Given the description of an element on the screen output the (x, y) to click on. 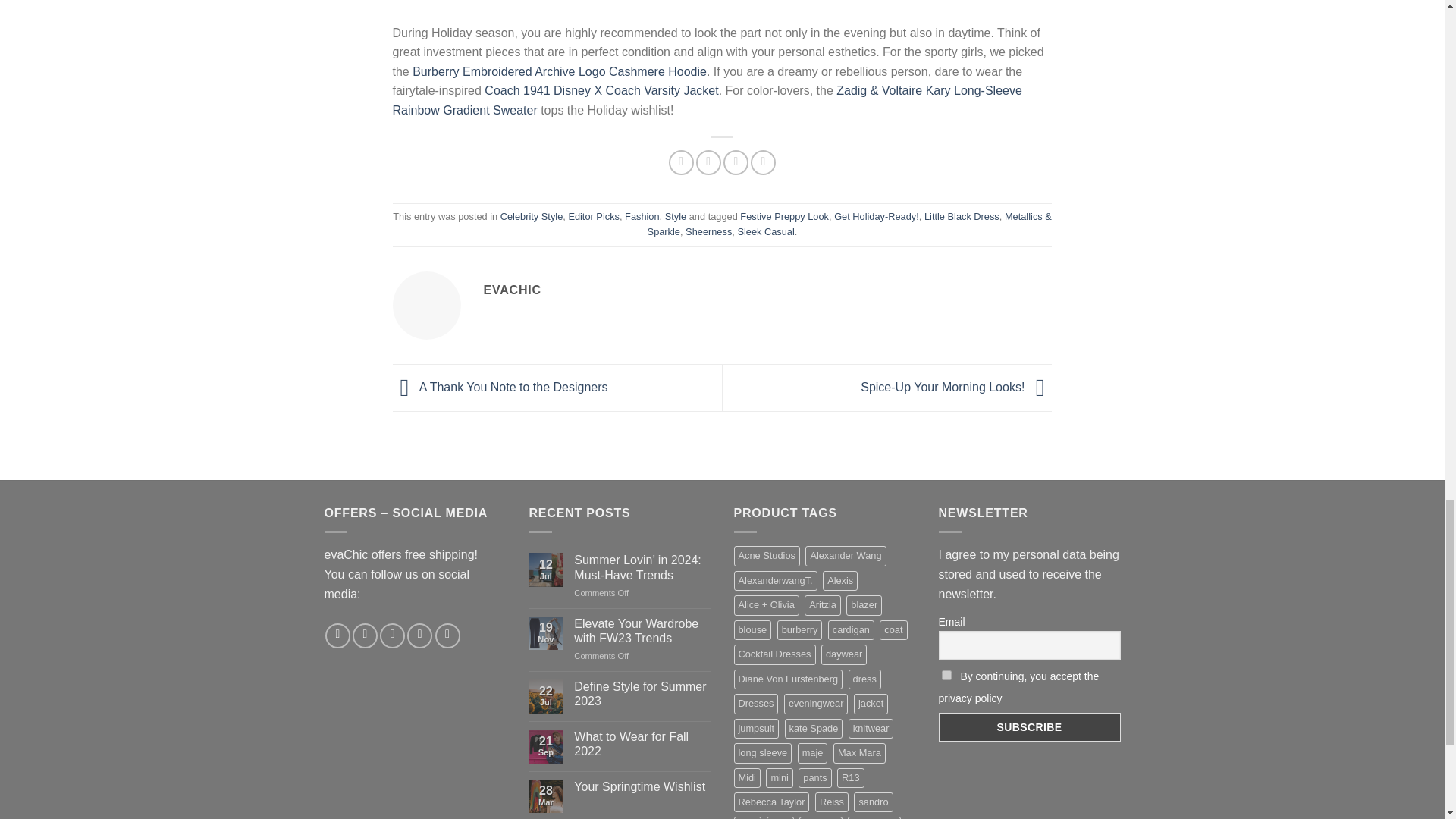
Pin on Pinterest (763, 162)
Share on Twitter (707, 162)
Share on Facebook (681, 162)
Follow on Facebook (337, 635)
Follow on Twitter (392, 635)
Send us an email (419, 635)
Follow on Pinterest (447, 635)
on (947, 675)
Email to a Friend (735, 162)
Subscribe (1030, 727)
Follow on Instagram (364, 635)
